Given the description of an element on the screen output the (x, y) to click on. 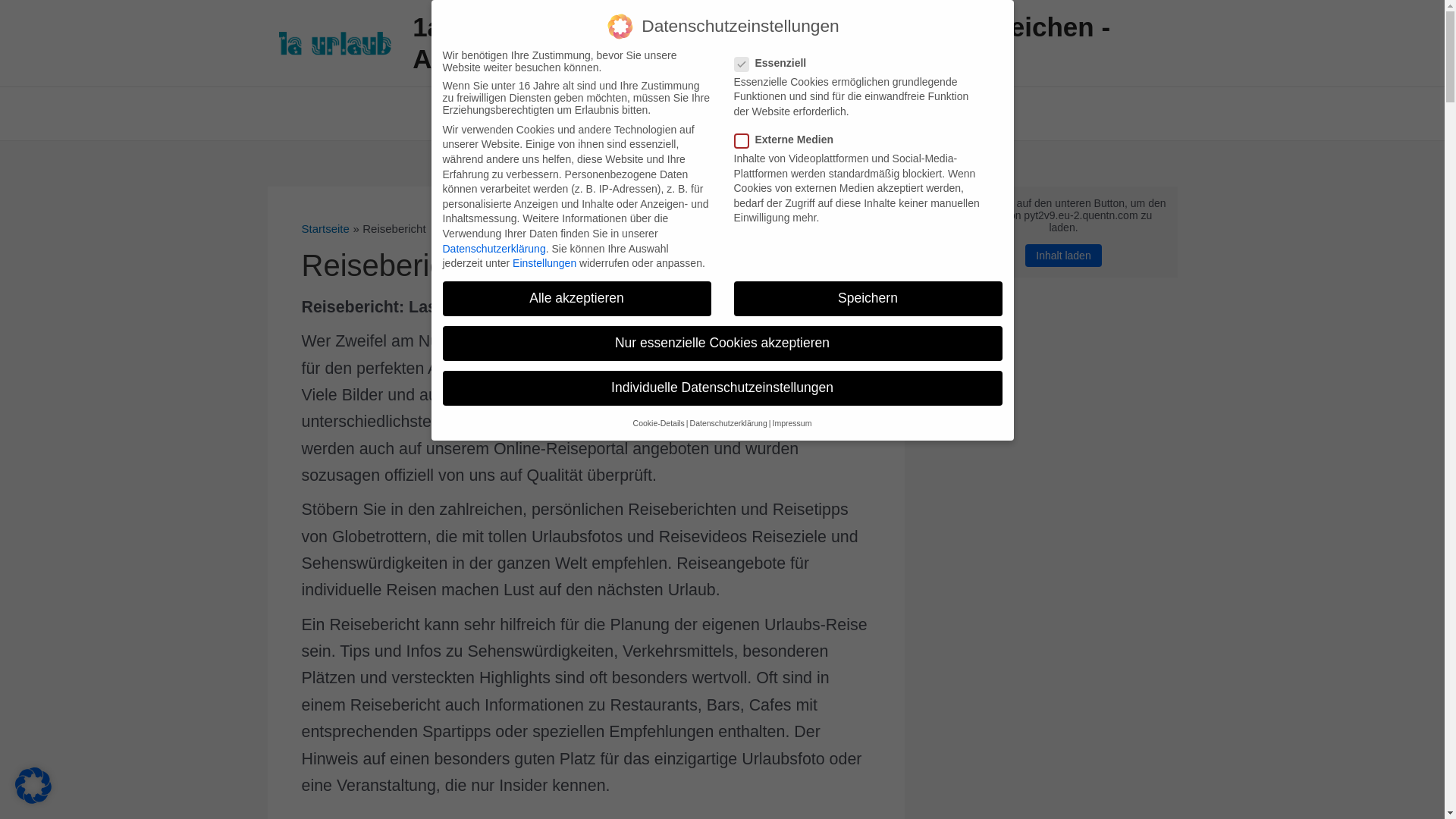
Cookie-Details Element type: text (658, 422)
USA Element type: text (792, 113)
Einstellungen Element type: text (544, 263)
Hotel Element type: text (610, 113)
Inhalt laden Element type: text (1063, 255)
Urlaub Element type: text (543, 113)
Startseite Element type: text (325, 228)
Kreuzfahrt Element type: text (724, 113)
Alle akzeptieren Element type: text (576, 298)
Individuelle Datenschutzeinstellungen Element type: text (722, 387)
Infos Element type: text (854, 113)
Speichern Element type: text (868, 298)
Nur essenzielle Cookies akzeptieren Element type: text (722, 343)
Flug Element type: text (664, 113)
Impressum Element type: text (791, 422)
Reiseberichte Element type: text (565, 394)
News Element type: text (910, 113)
